Given the description of an element on the screen output the (x, y) to click on. 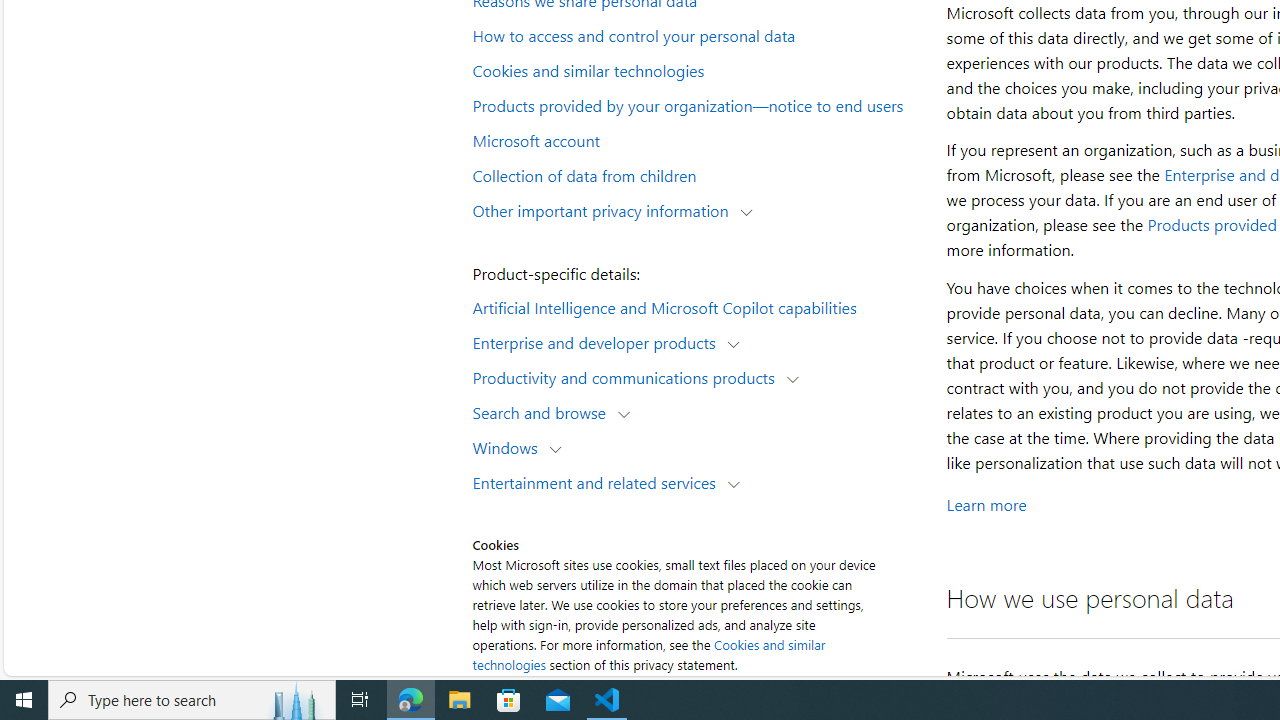
Microsoft account (696, 139)
Learn more about Personal data we collect (985, 504)
Cookies and similar technologies (696, 69)
How to access and control your personal data (696, 35)
Cookies and similar technologies (648, 654)
Collection of data from children (696, 174)
Windows (509, 446)
Other important privacy information (605, 209)
Search and browse (543, 412)
Entertainment and related services (598, 481)
Artificial Intelligence and Microsoft Copilot capabilities (696, 306)
Enterprise and developer products (598, 341)
Productivity and communications products (628, 376)
